Given the description of an element on the screen output the (x, y) to click on. 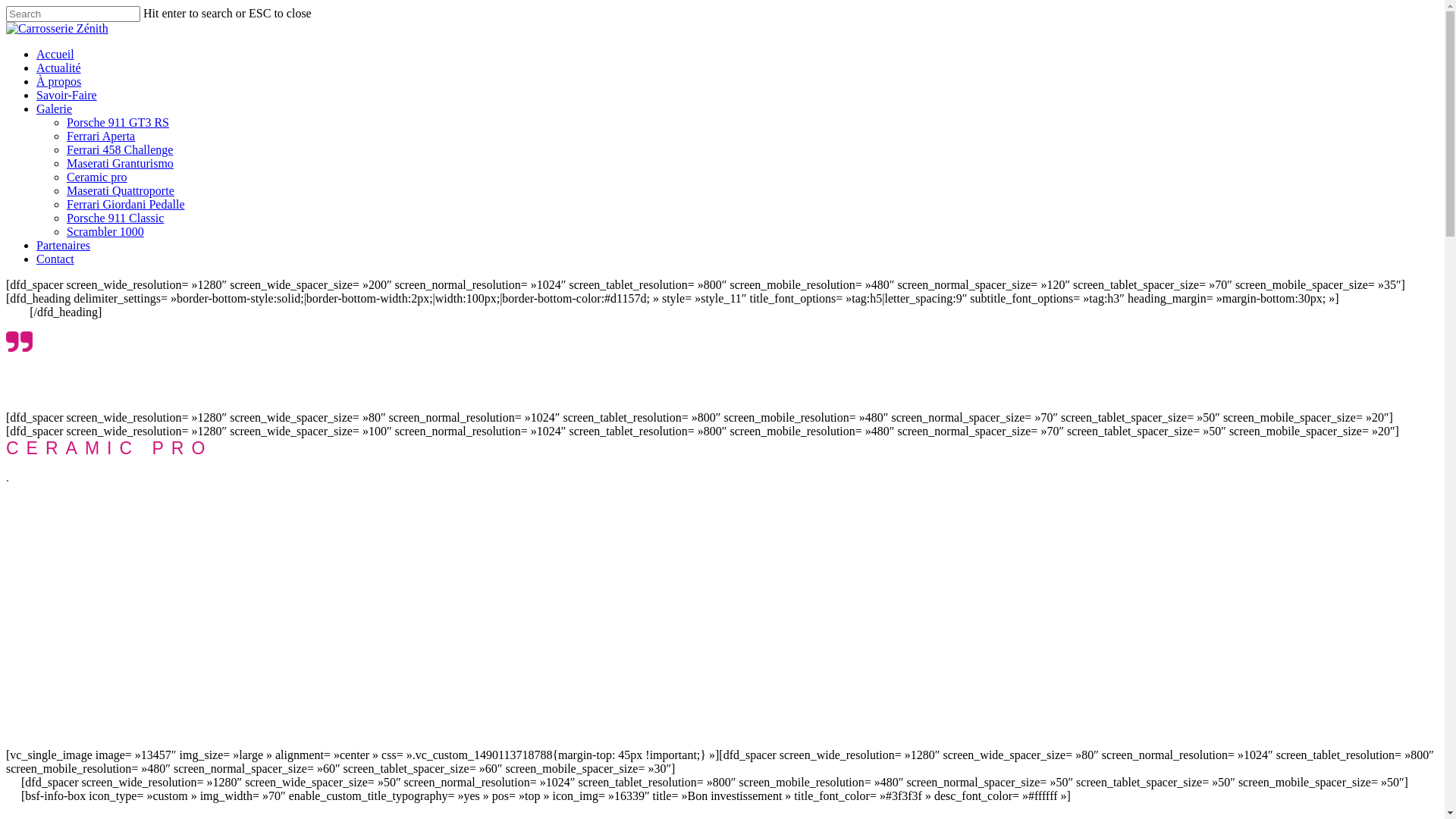
Skip to main content Element type: text (5, 5)
Partenaires Element type: text (63, 244)
Ceramic pro Element type: text (96, 176)
Scrambler 1000 Element type: text (105, 231)
Porsche 911 Classic Element type: text (114, 217)
Savoir-Faire Element type: text (66, 94)
Accueil Element type: text (55, 53)
Ferrari Giordani Pedalle Element type: text (125, 203)
Ferrari 458 Challenge Element type: text (119, 149)
Maserati Quattroporte Element type: text (120, 190)
Maserati Granturismo Element type: text (119, 162)
Galerie Element type: text (54, 108)
Porsche 911 GT3 RS Element type: text (117, 122)
Ferrari Aperta Element type: text (100, 135)
Contact Element type: text (55, 258)
